Given the description of an element on the screen output the (x, y) to click on. 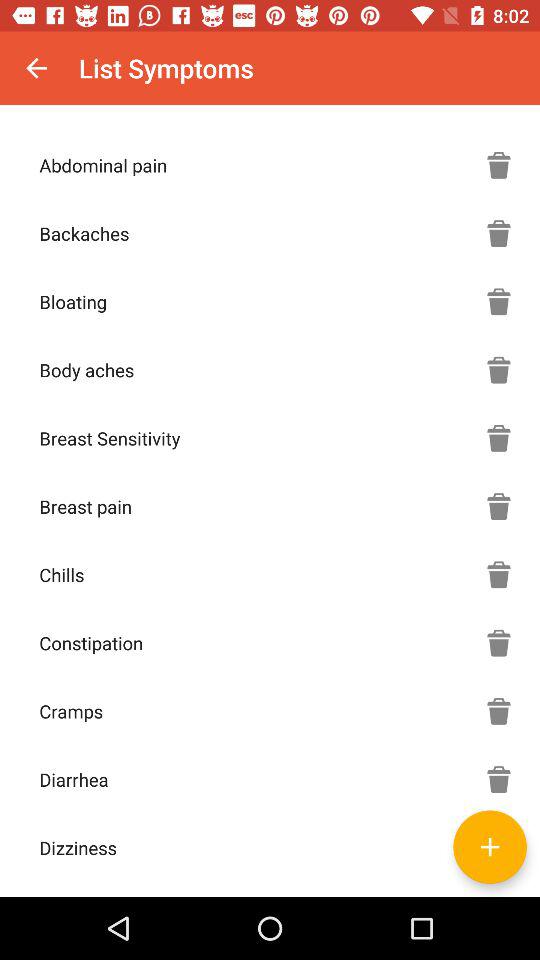
delete symptom (499, 711)
